Given the description of an element on the screen output the (x, y) to click on. 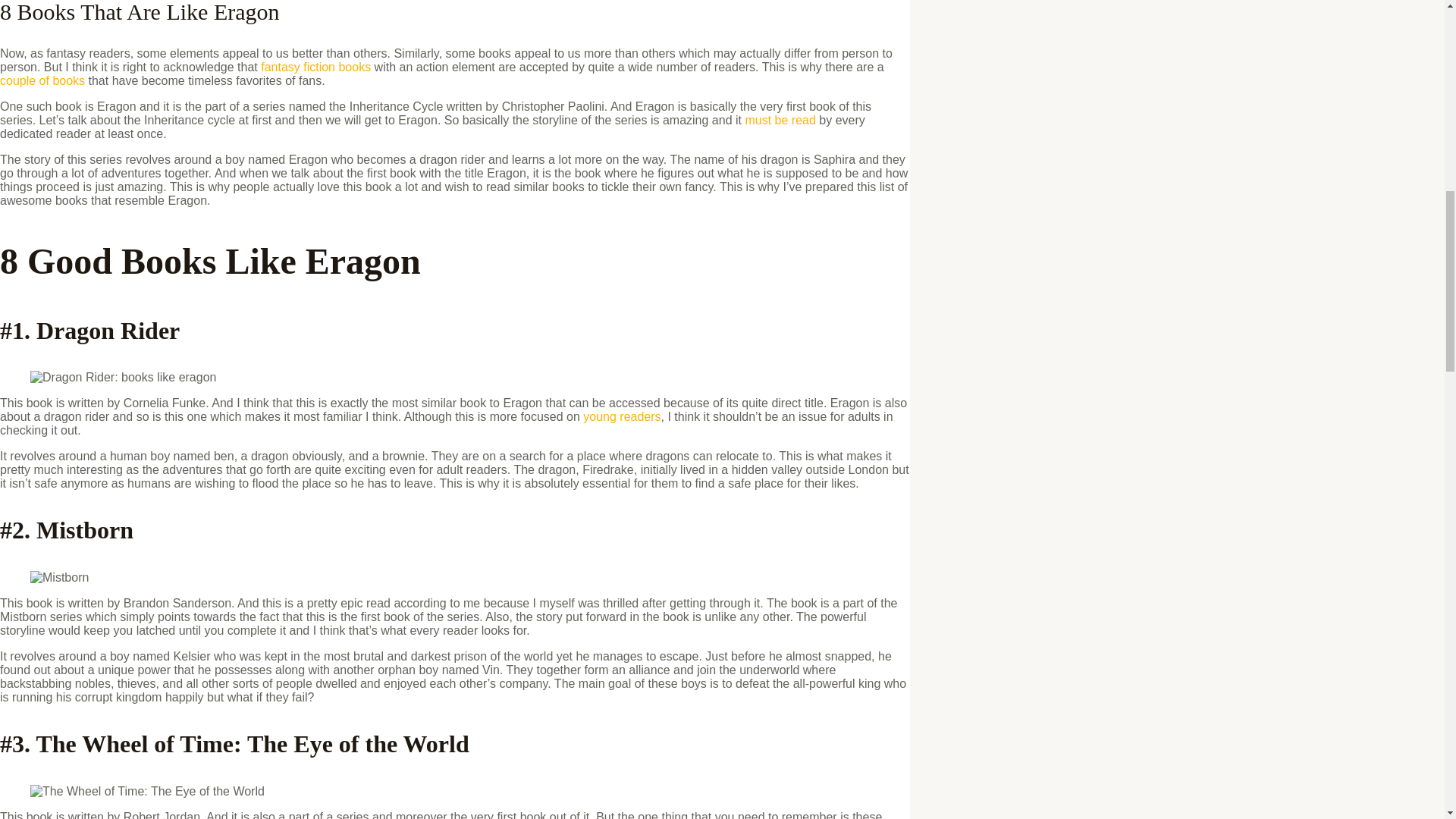
8 Books That Are Like Eragon 3 (122, 377)
must be read (779, 119)
fantasy fiction books (315, 66)
8 Books That Are Like Eragon 5 (147, 791)
young readers (622, 416)
couple of books (42, 80)
8 Books That Are Like Eragon 4 (59, 577)
